Given the description of an element on the screen output the (x, y) to click on. 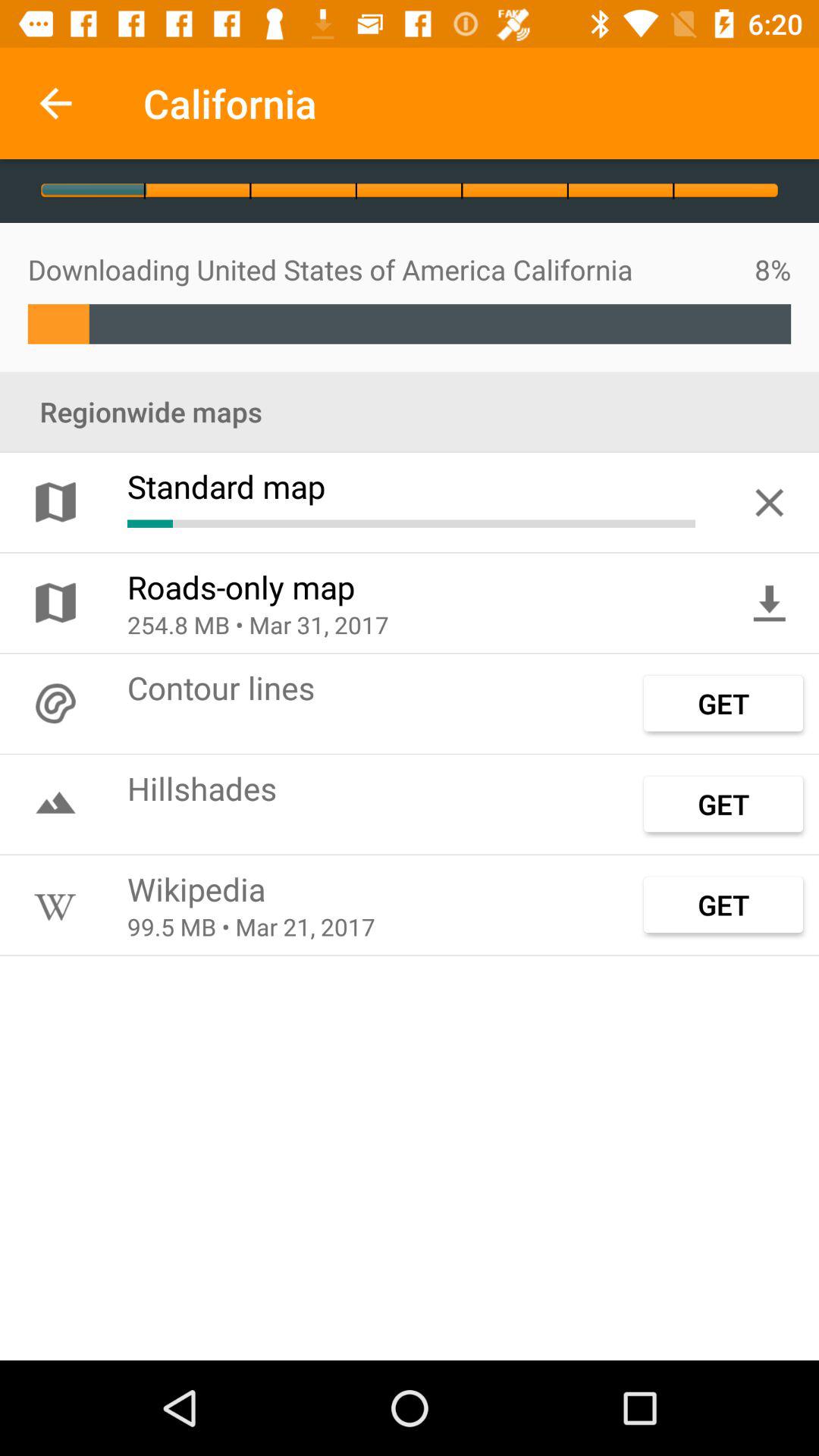
press app next to california app (55, 103)
